Given the description of an element on the screen output the (x, y) to click on. 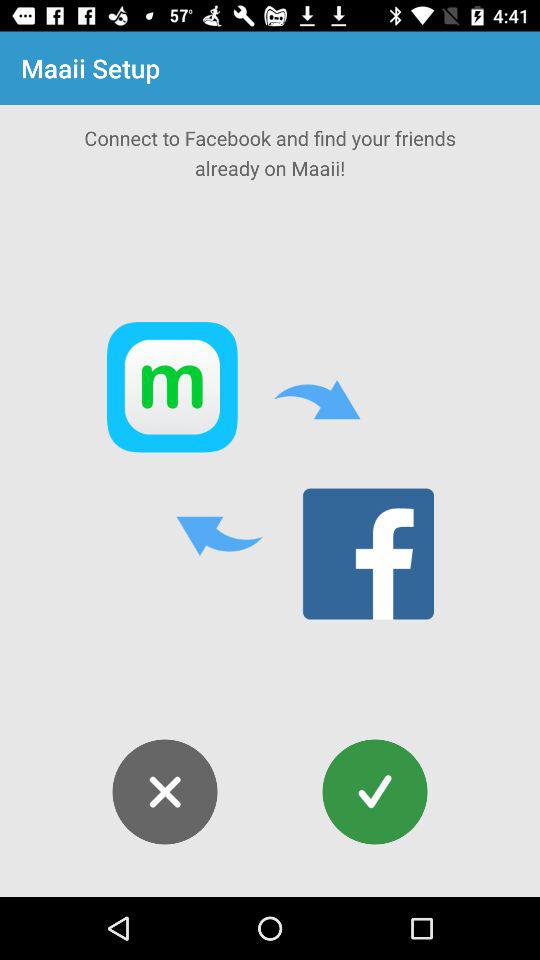
choose no (164, 791)
